Given the description of an element on the screen output the (x, y) to click on. 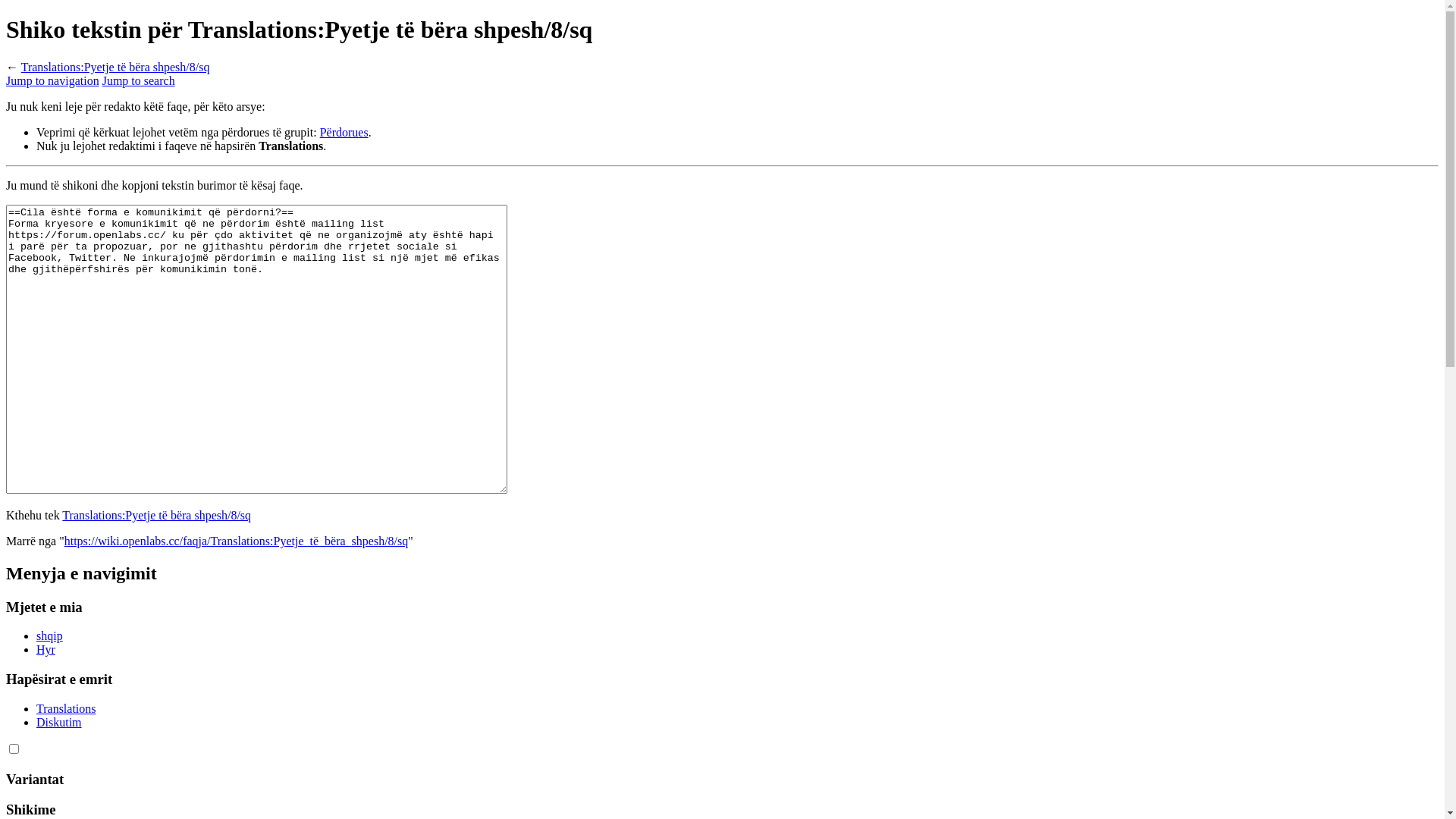
Jump to search Element type: text (138, 80)
Translations Element type: text (66, 708)
shqip Element type: text (49, 635)
Hyr Element type: text (45, 649)
Diskutim Element type: text (58, 721)
Jump to navigation Element type: text (52, 80)
